Given the description of an element on the screen output the (x, y) to click on. 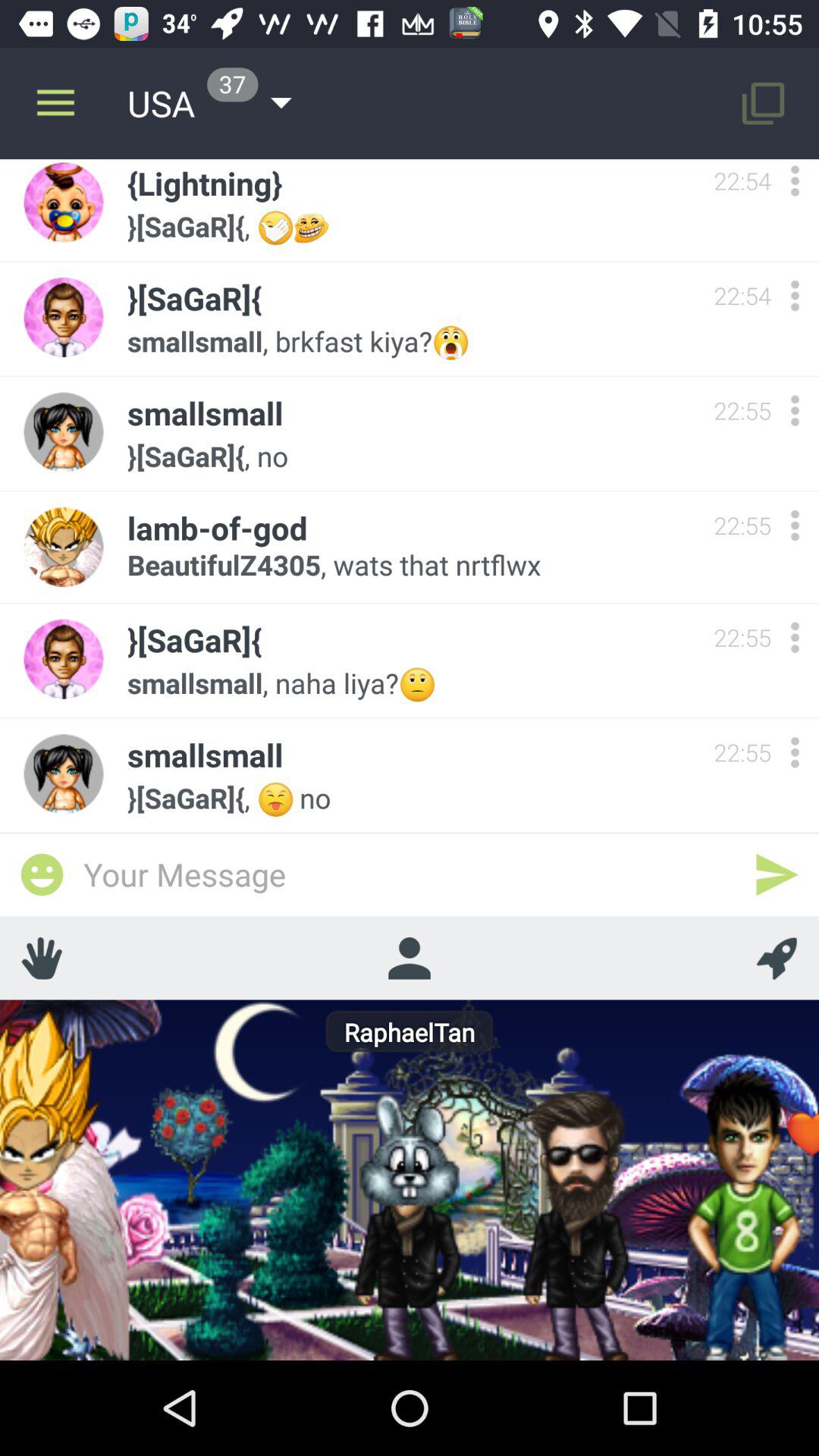
send (777, 874)
